Given the description of an element on the screen output the (x, y) to click on. 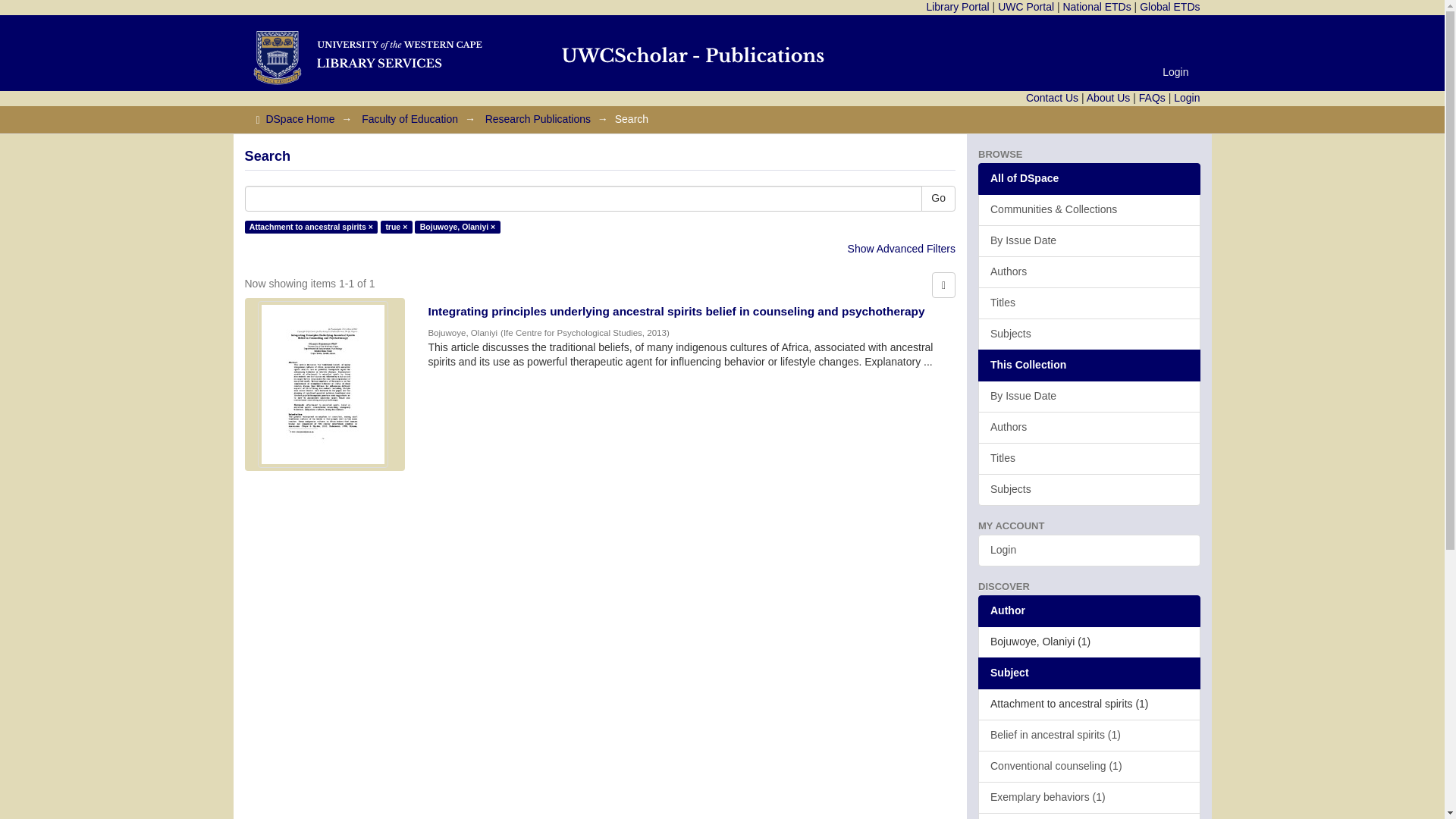
Contact Us (1052, 97)
Show Advanced Filters (901, 248)
Login (1175, 71)
Global ETDs (1169, 6)
Library Portal (957, 6)
Go (938, 198)
National ETDs (1096, 6)
FAQs (1152, 97)
DSpace Home (299, 119)
Research Publications (537, 119)
Faculty of Education (409, 119)
UWC Portal (1025, 6)
Login (1186, 97)
About Us (1108, 97)
